Given the description of an element on the screen output the (x, y) to click on. 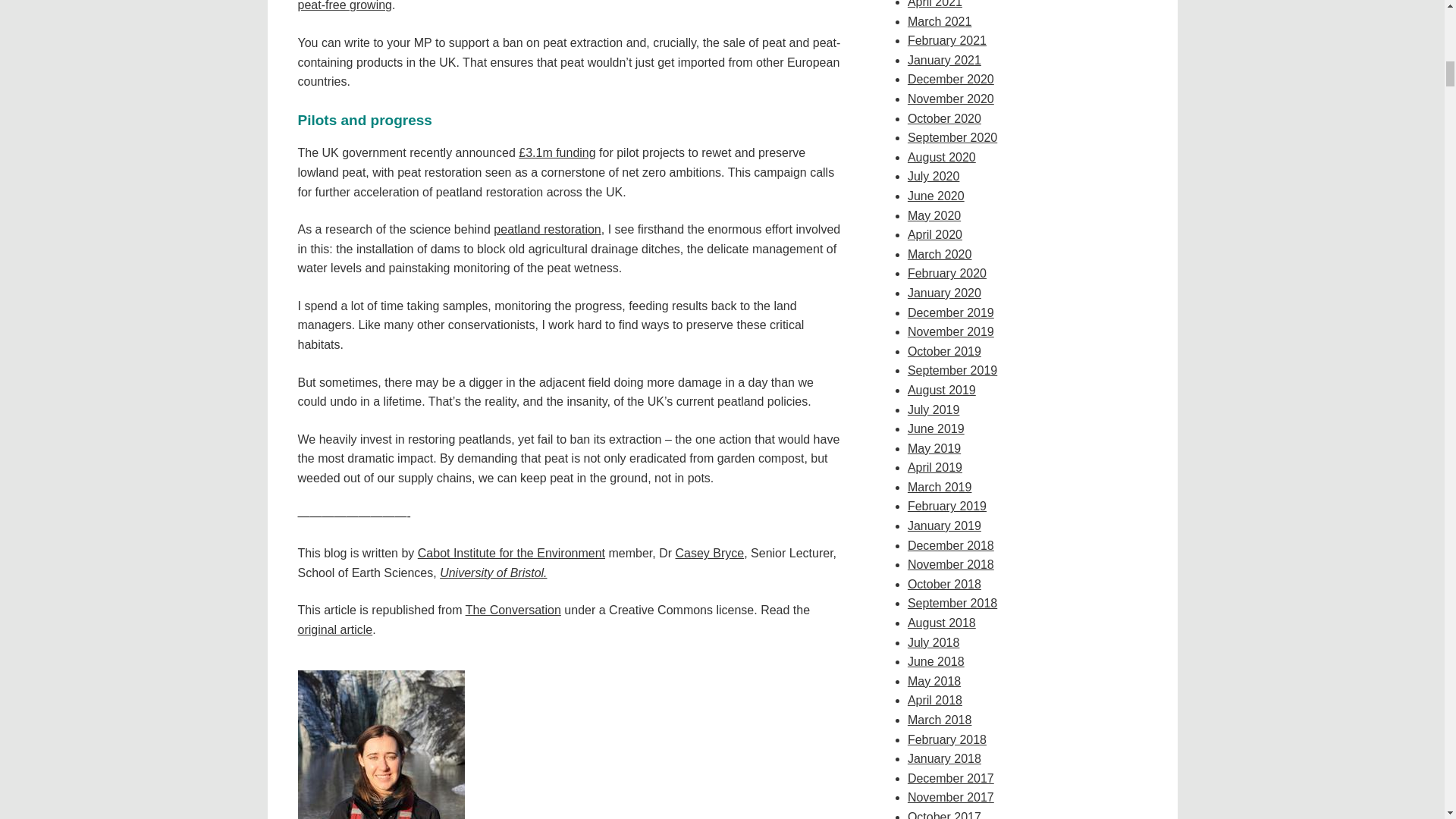
The Conversation (512, 609)
University of Bristol. (493, 572)
original article (334, 629)
Casey Bryce (709, 553)
peat-free growing (344, 5)
Cabot Institute for the Environment (511, 553)
peatland restoration (546, 228)
